Given the description of an element on the screen output the (x, y) to click on. 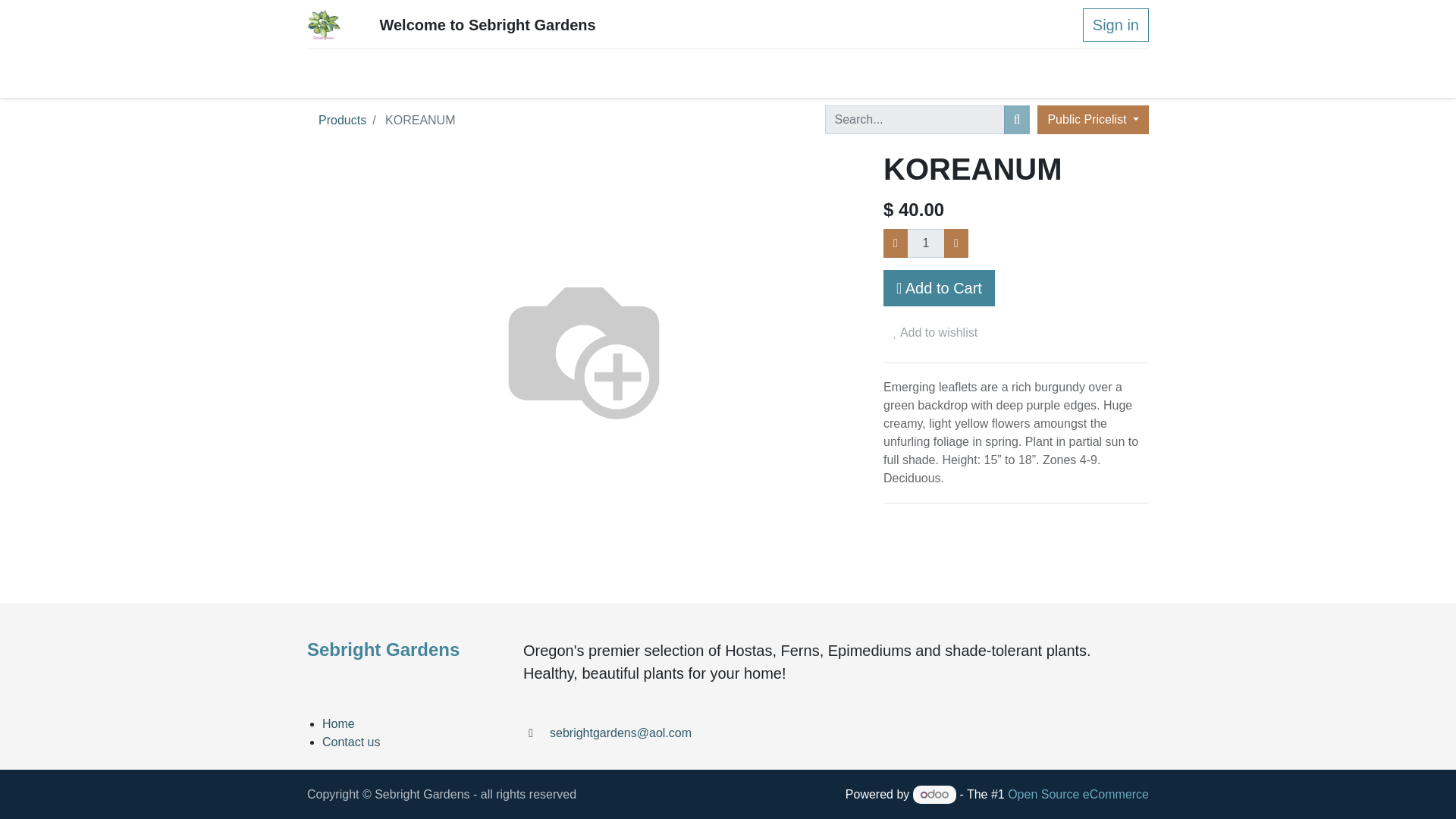
1 (925, 243)
Public Pricelist (1092, 119)
Search (1017, 119)
Home (338, 723)
Add to wishlist (935, 332)
Products (342, 119)
Contact us (350, 741)
Sign in (1115, 24)
Sebright Gardens (323, 24)
Open Source eCommerce (1077, 793)
